Given the description of an element on the screen output the (x, y) to click on. 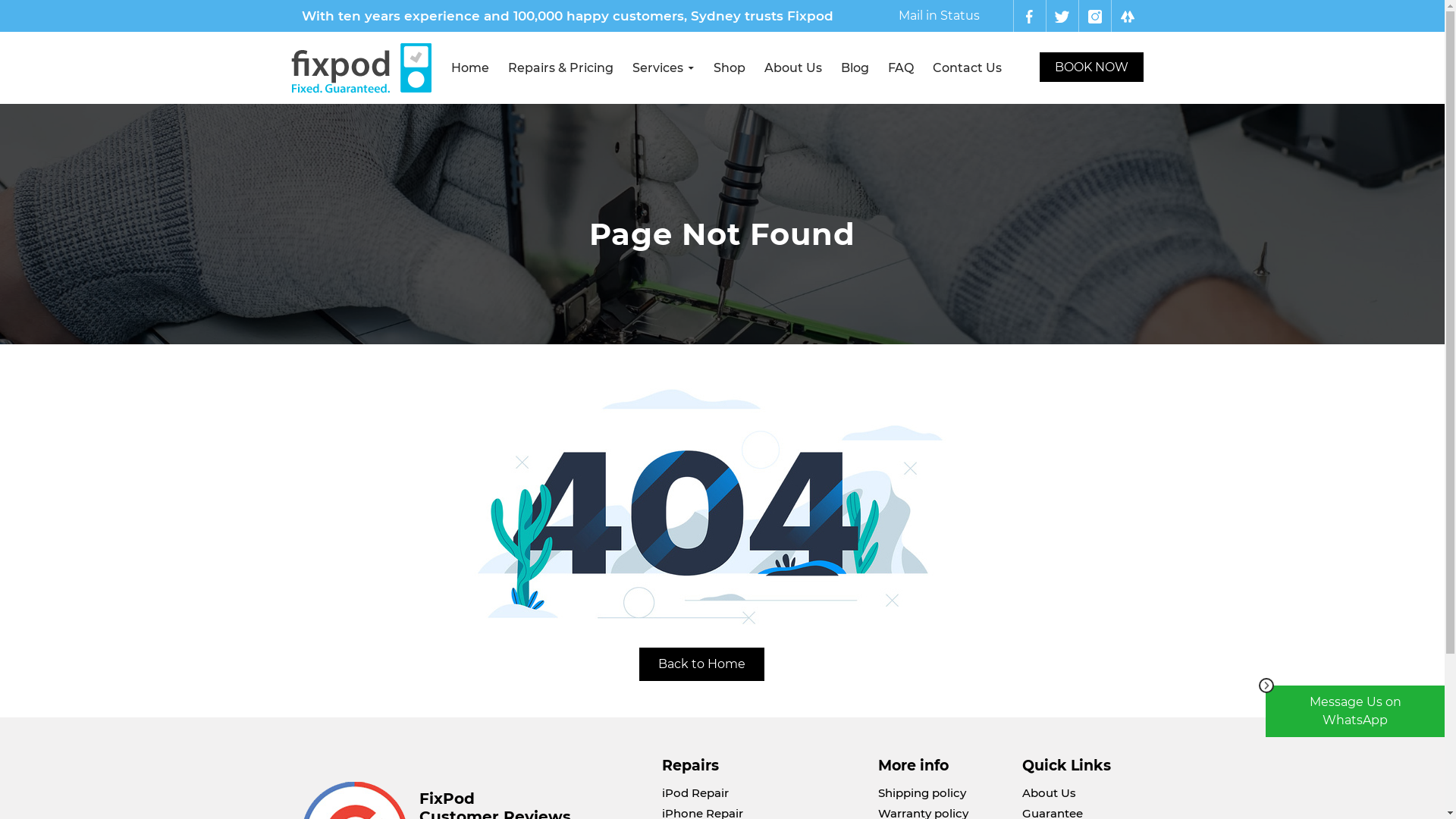
Message Us on WhatsApp Element type: text (1354, 711)
FAQ Element type: text (900, 67)
Contact Us Element type: text (966, 67)
BOOK NOW Element type: text (1090, 66)
About Us Element type: text (1049, 792)
Skip To Content Element type: text (449, 31)
Blog Element type: text (854, 67)
Repairs & Pricing Element type: text (559, 67)
Shipping policy Element type: text (922, 792)
Services Element type: text (662, 67)
Shop Element type: text (729, 67)
Home Element type: text (469, 67)
iPod Repair Element type: text (694, 792)
About Us Element type: text (792, 67)
Mail in Status Element type: text (938, 15)
Back to Home Element type: text (701, 663)
